Given the description of an element on the screen output the (x, y) to click on. 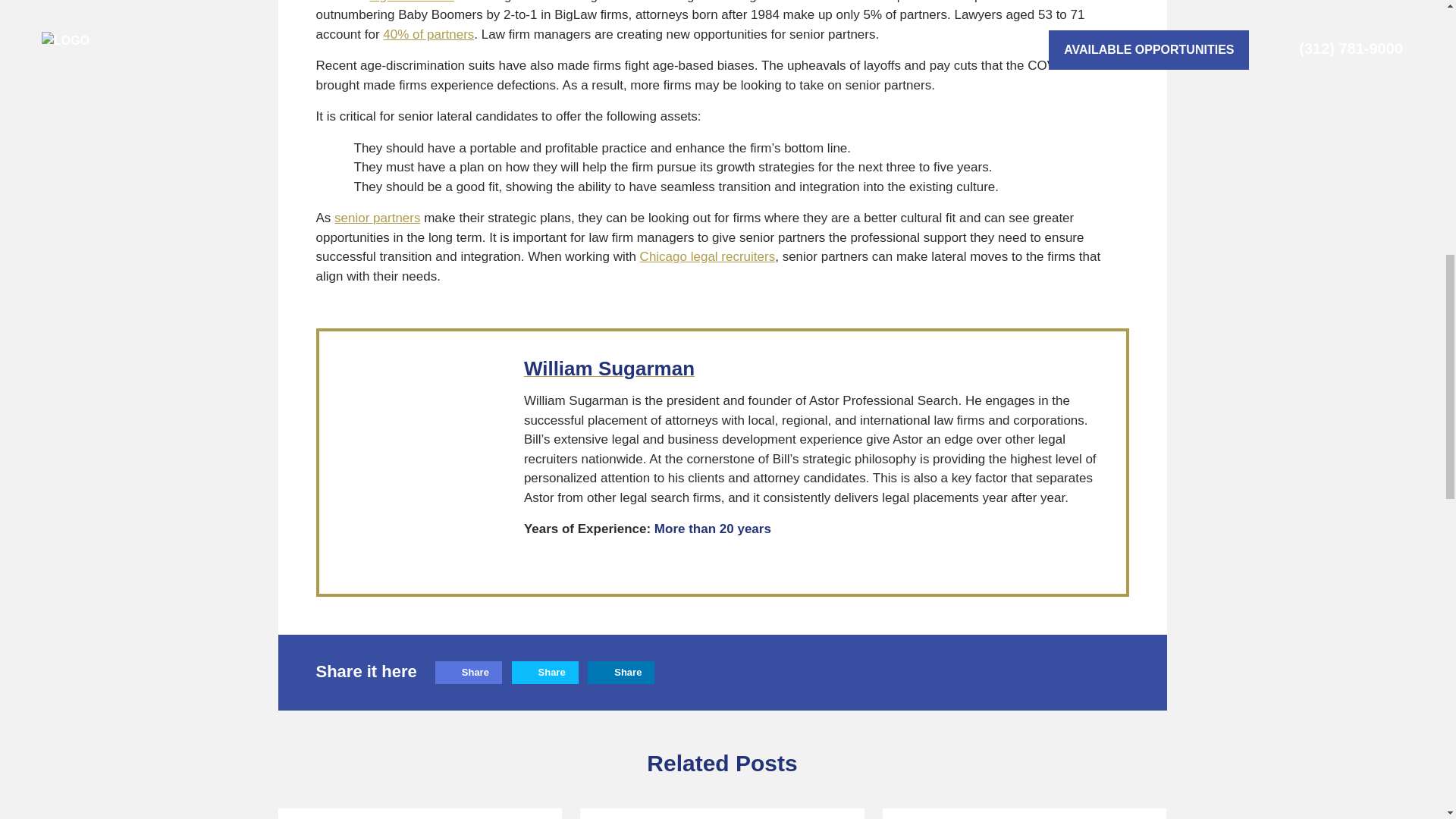
William Sugarman (609, 370)
legal recruiters (411, 1)
Chicago legal recruiters (708, 256)
Share (620, 671)
Share (468, 671)
Share (545, 671)
senior partners (377, 217)
